Given the description of an element on the screen output the (x, y) to click on. 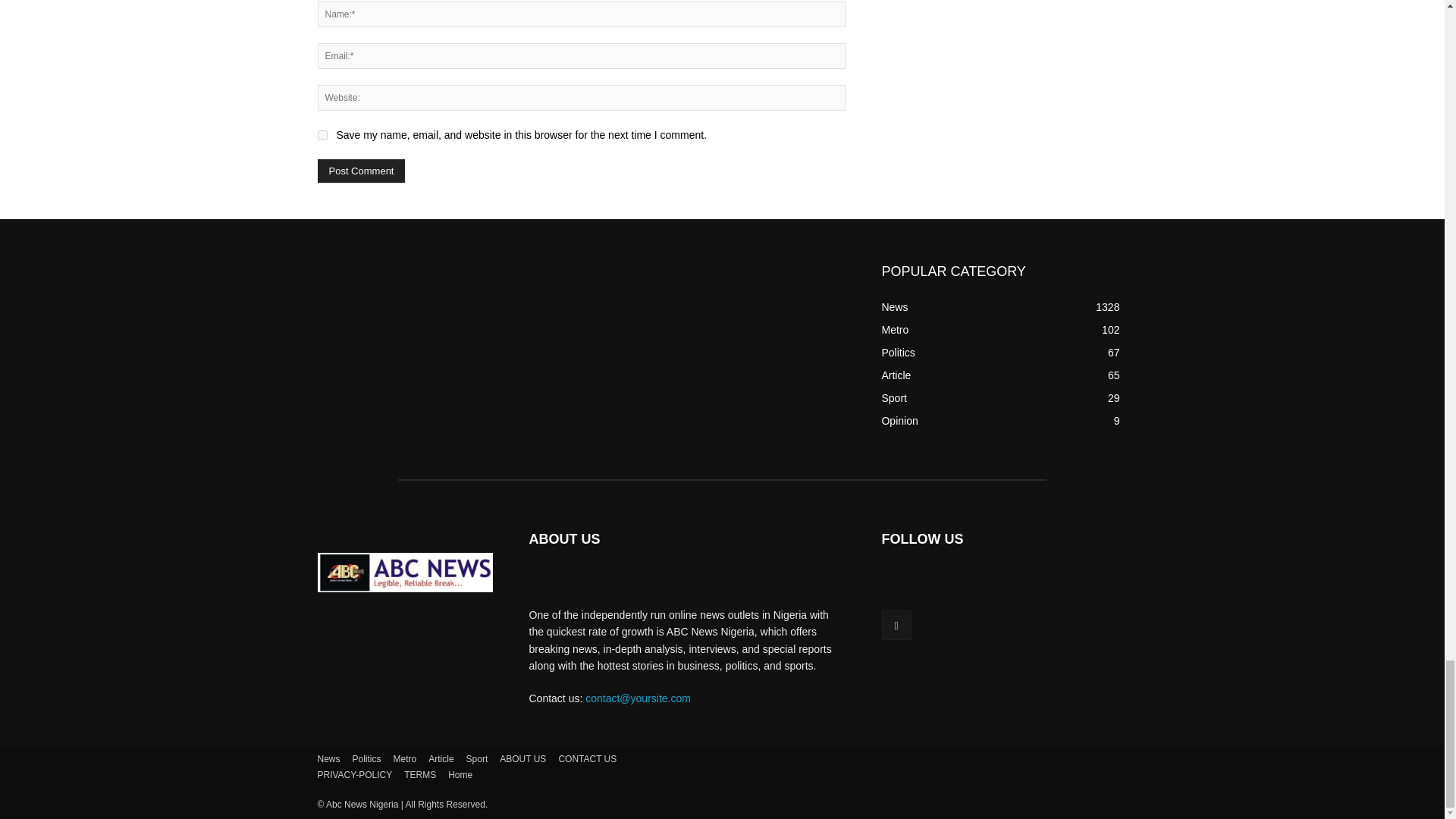
yes (321, 135)
Post Comment (360, 170)
